Given the description of an element on the screen output the (x, y) to click on. 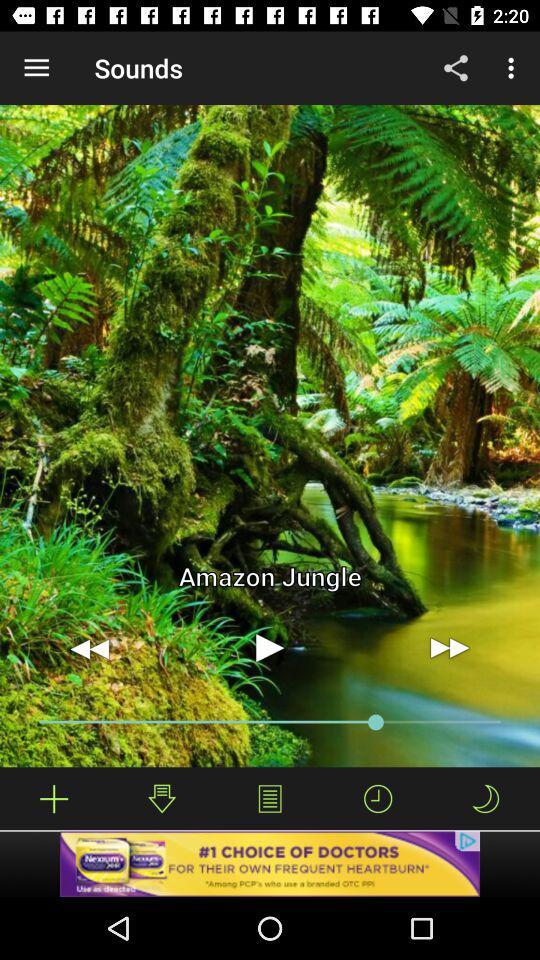
play option (270, 648)
